Given the description of an element on the screen output the (x, y) to click on. 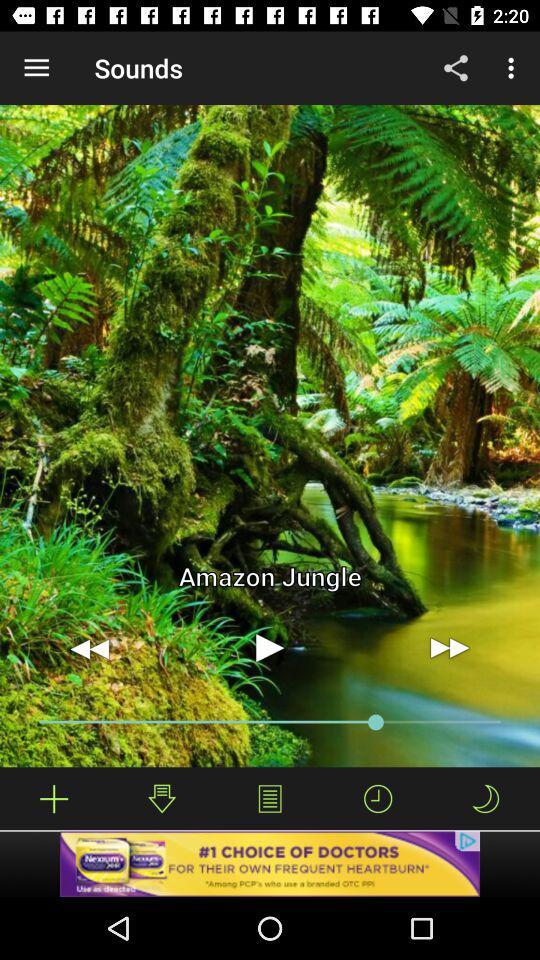
play option (270, 648)
